Given the description of an element on the screen output the (x, y) to click on. 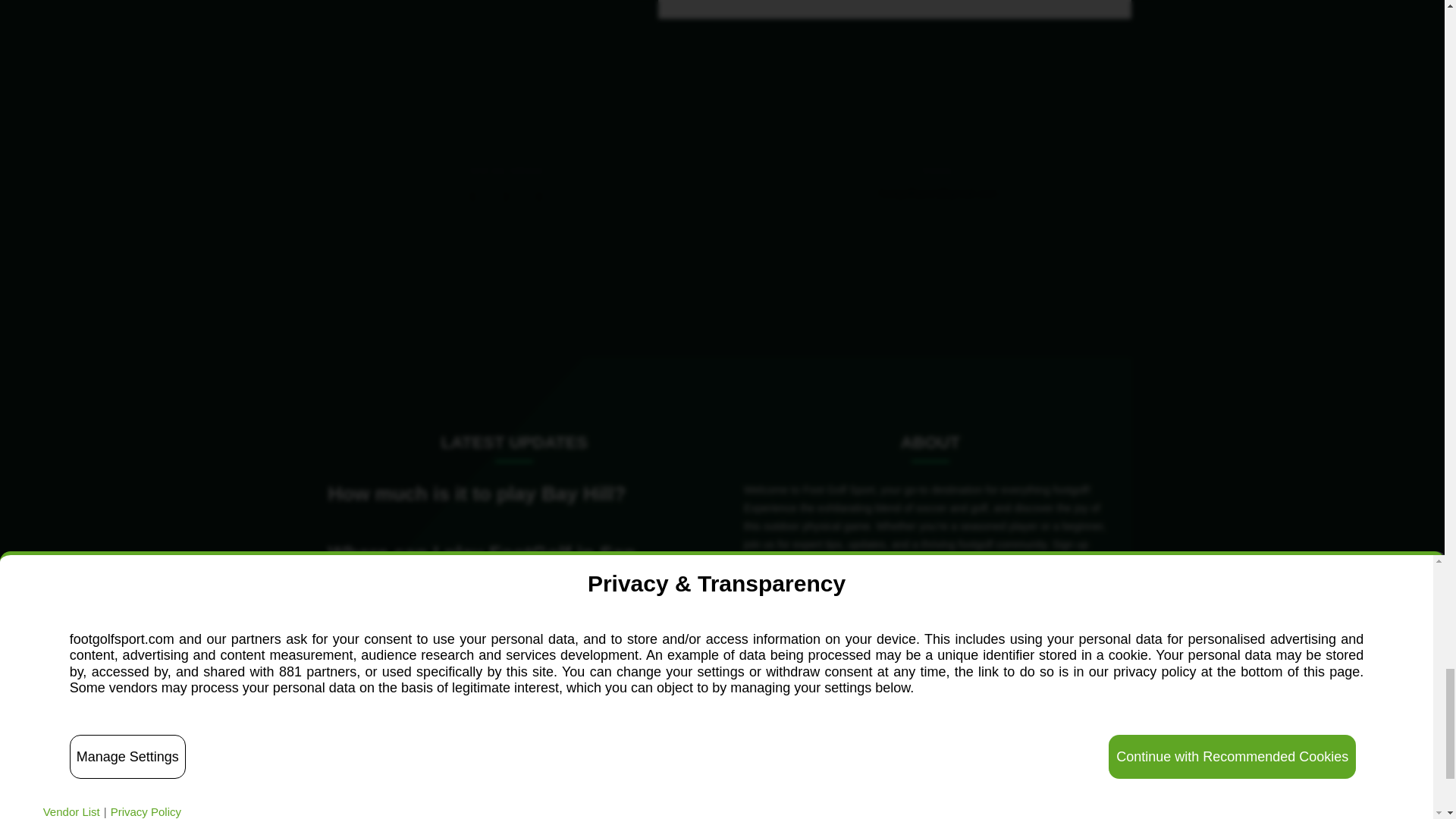
Follow on Facebook (472, 197)
Follow on Twitter (506, 197)
Follow on Instagram (539, 197)
